Given the description of an element on the screen output the (x, y) to click on. 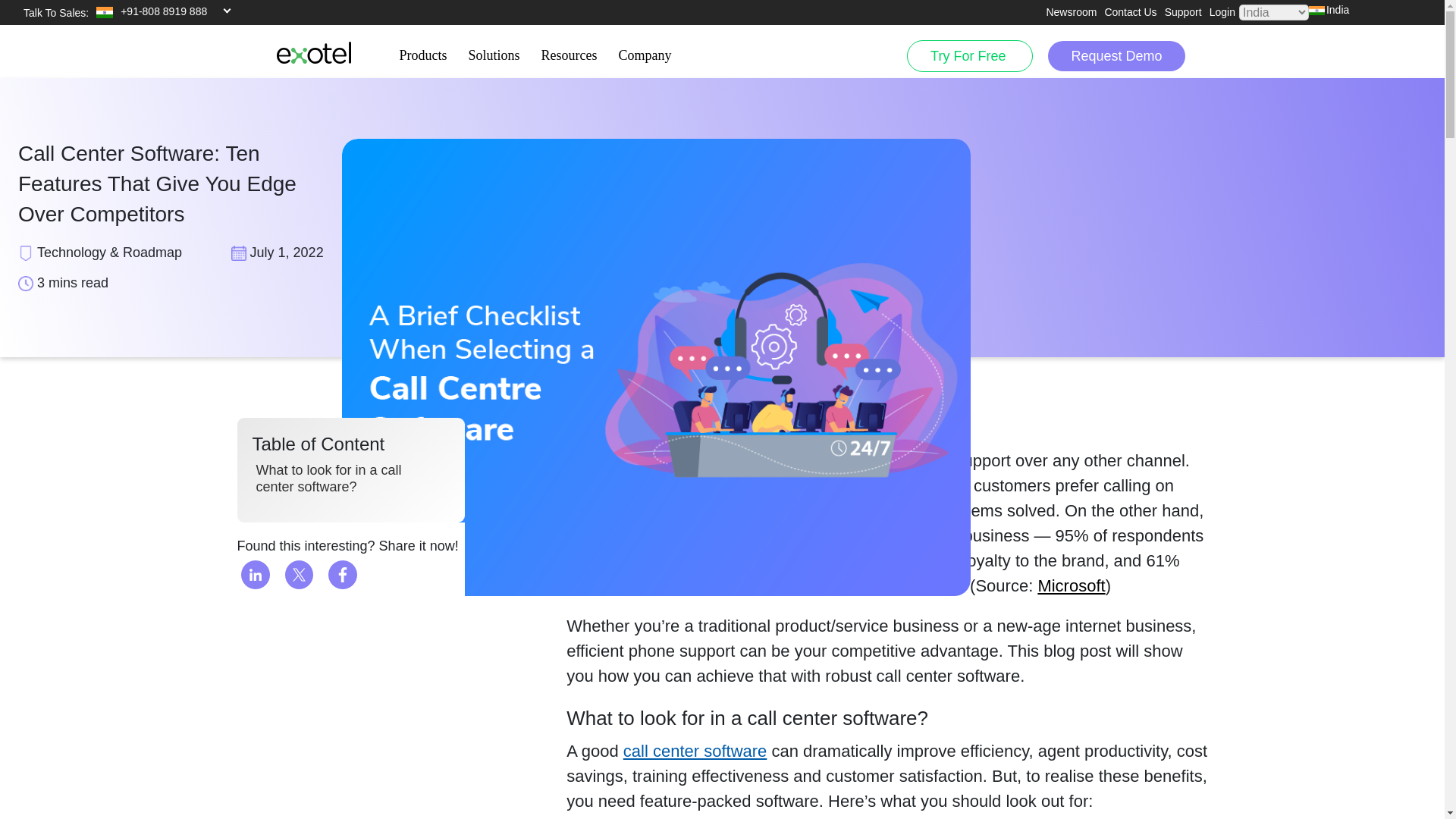
Support (1183, 12)
Products (422, 49)
Newsroom (1070, 12)
Login (1221, 12)
India (1374, 10)
Contact Us (1129, 12)
